Given the description of an element on the screen output the (x, y) to click on. 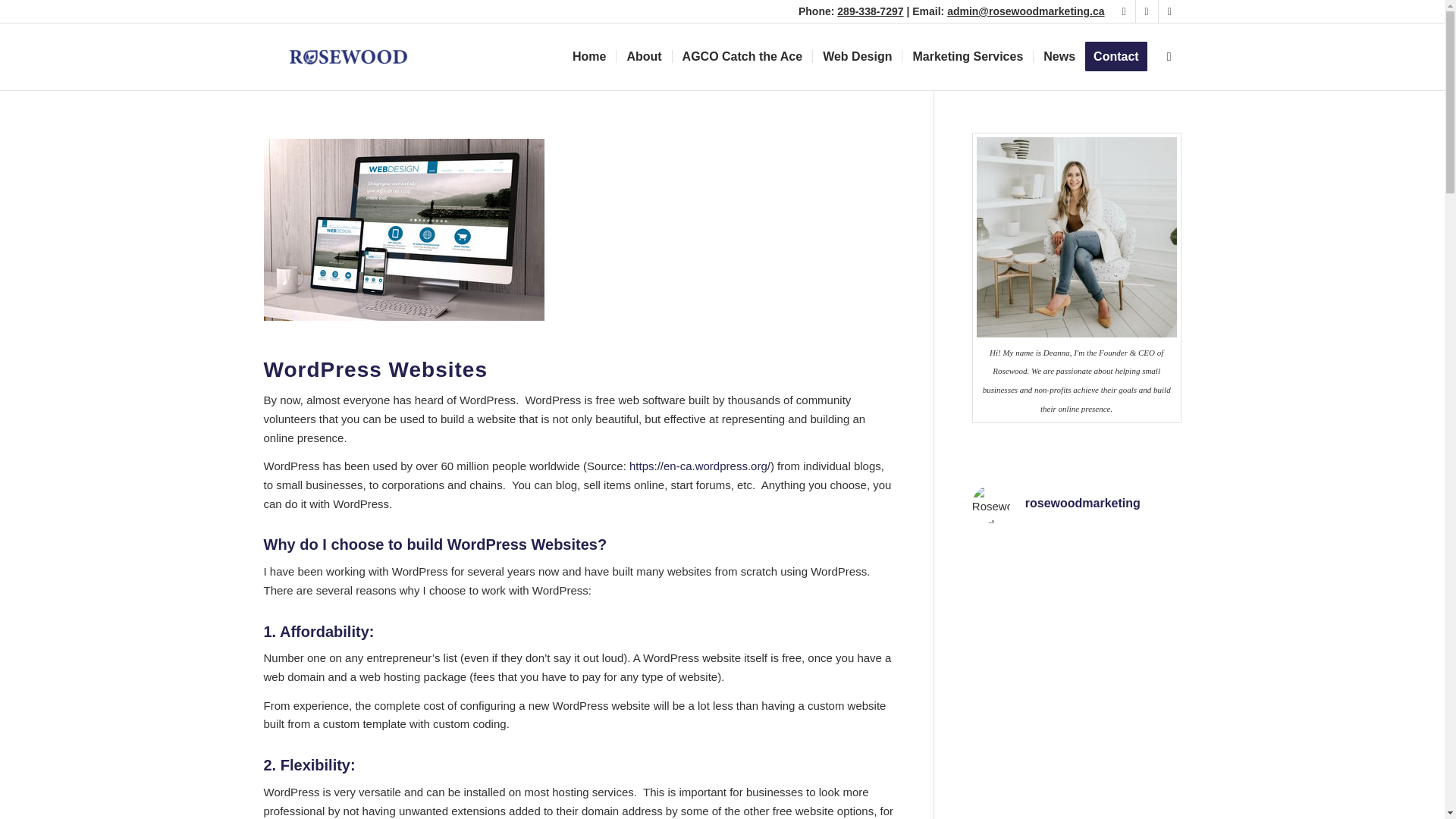
AGCO Catch the Ace (741, 56)
Instagram (1146, 11)
Facebook (1124, 11)
Web Design (856, 56)
rosewoodmarketing (1076, 504)
Contact (1120, 56)
Marketing Services (966, 56)
289-338-7297 (869, 10)
LinkedIn (1169, 11)
